Given the description of an element on the screen output the (x, y) to click on. 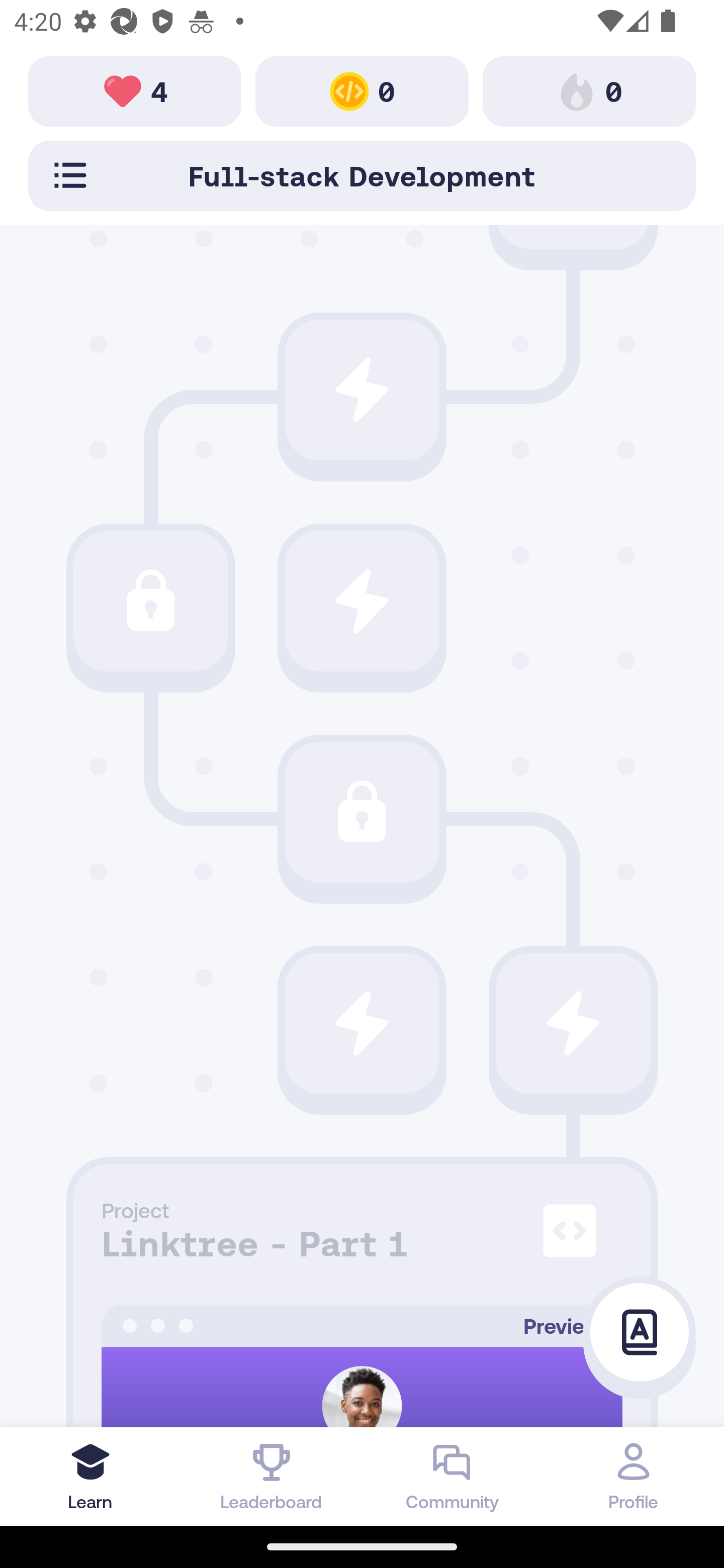
Path Toolbar Image 4 (134, 90)
Path Toolbar Image 0 (361, 90)
Path Toolbar Image 0 (588, 90)
Path Toolbar Selector Full-stack Development (361, 175)
Path Icon (361, 389)
Path Icon (150, 600)
Path Icon (361, 600)
Path Icon (361, 811)
Path Icon (361, 1022)
Path Icon (572, 1022)
Glossary Icon (639, 1332)
Leaderboard (271, 1475)
Community (452, 1475)
Profile (633, 1475)
